Given the description of an element on the screen output the (x, y) to click on. 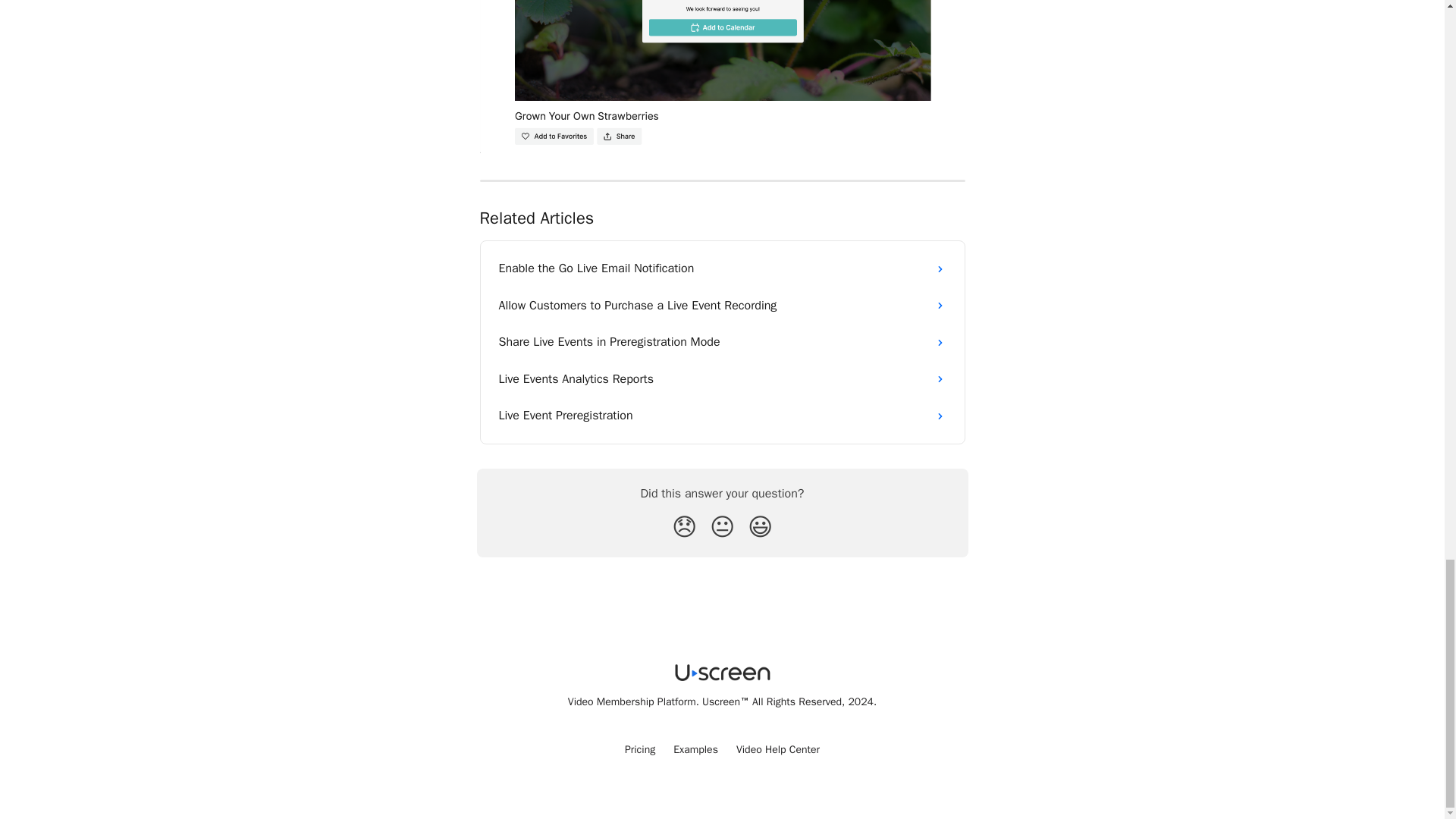
Pricing (639, 748)
Examples (694, 748)
Smiley (760, 526)
Allow Customers to Purchase a Live Event Recording (722, 305)
Video Help Center (777, 748)
Disappointed (684, 526)
Live Event Preregistration (722, 415)
Live Events Analytics Reports (722, 379)
Share Live Events in Preregistration Mode (722, 341)
Neutral (722, 526)
Enable the Go Live Email Notification (722, 268)
